Given the description of an element on the screen output the (x, y) to click on. 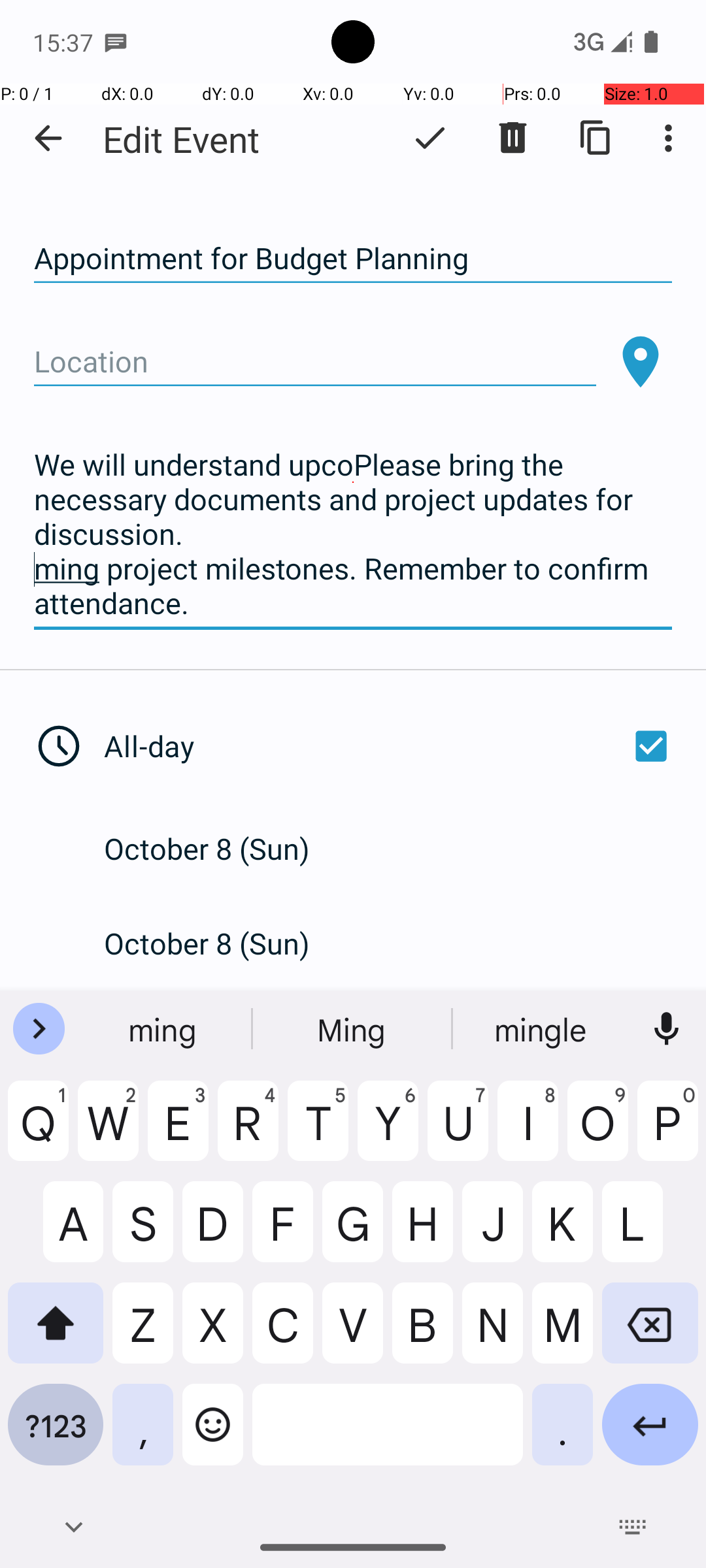
Edit Event Element type: android.widget.TextView (181, 138)
Duplicate event Element type: android.widget.Button (595, 137)
Appointment for Budget Planning Element type: android.widget.EditText (352, 258)
Location Element type: android.widget.EditText (314, 361)
We will understand upcoPlease bring the necessary documents and project updates for discussion.
ming project milestones. Remember to confirm attendance. Element type: android.widget.EditText (352, 534)
October 8 (Sun) Element type: android.widget.TextView (220, 847)
All-day Element type: android.widget.CheckBox (390, 745)
ming Element type: android.widget.FrameLayout (163, 1028)
Ming Element type: android.widget.FrameLayout (352, 1028)
mingle Element type: android.widget.FrameLayout (541, 1028)
15:37 Element type: android.widget.TextView (64, 41)
